Given the description of an element on the screen output the (x, y) to click on. 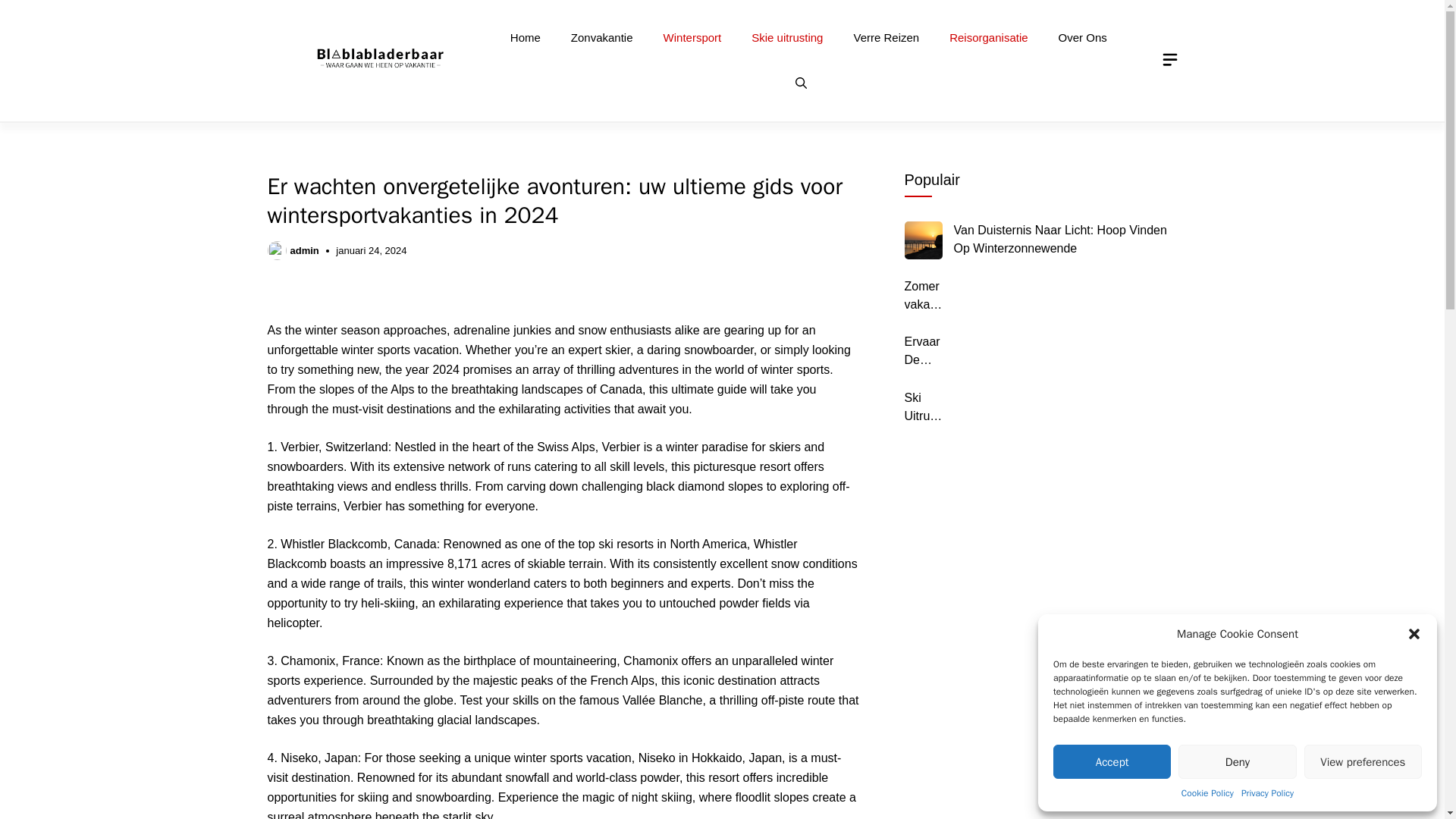
Privacy Policy (1267, 793)
Over Ons (1082, 37)
Skie uitrusting (787, 37)
Verre Reizen (886, 37)
Wintersport (691, 37)
Accept (1111, 761)
Zonvakantie (601, 37)
Cookie Policy (1206, 793)
admin (303, 250)
Reisorganisatie (988, 37)
